Given the description of an element on the screen output the (x, y) to click on. 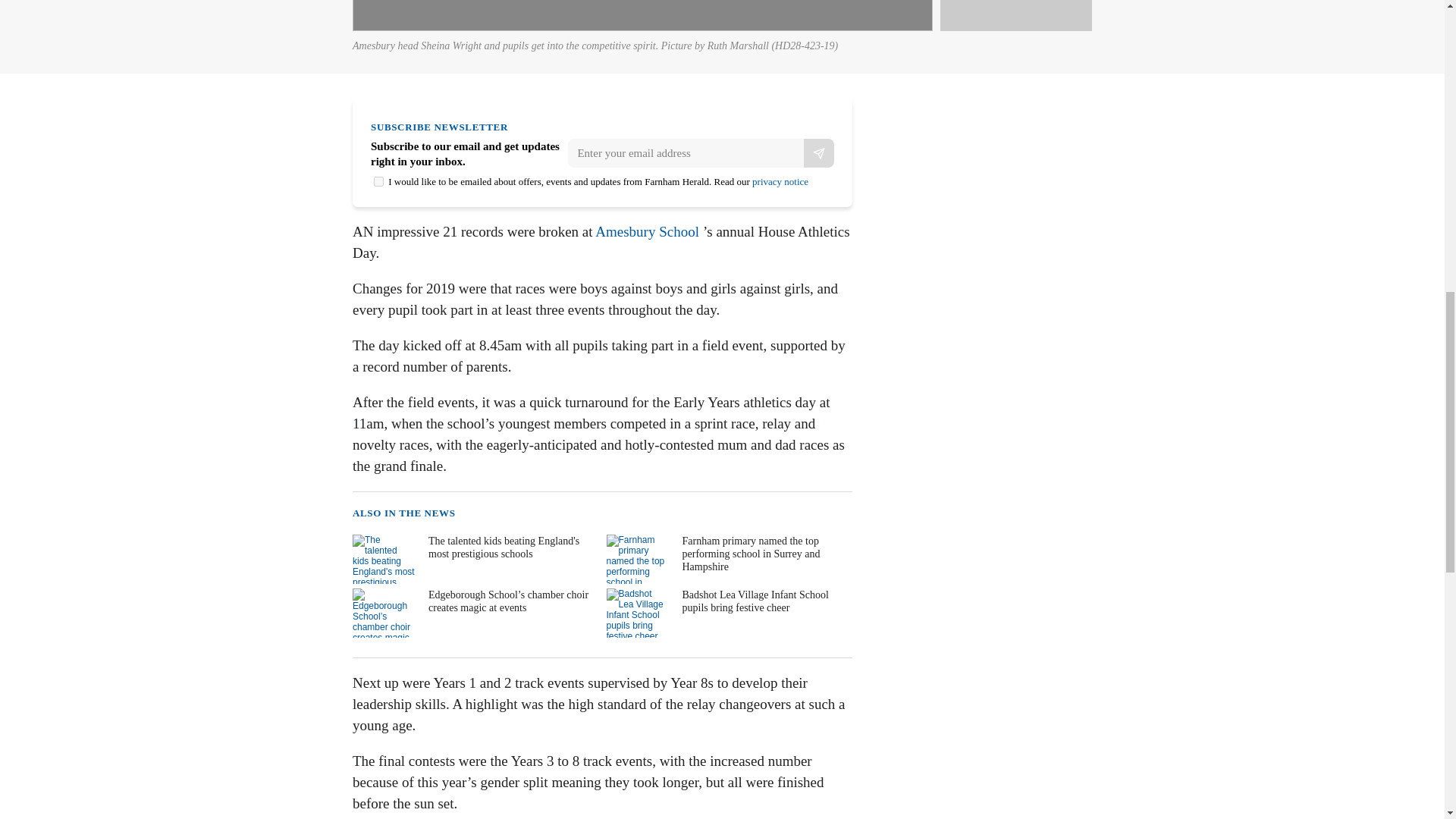
on (379, 181)
Amesbury School (646, 231)
privacy notice (780, 181)
The talented kids beating England's most prestigious schools (473, 558)
Badshot Lea Village Infant School pupils bring festive cheer (727, 613)
